Given the description of an element on the screen output the (x, y) to click on. 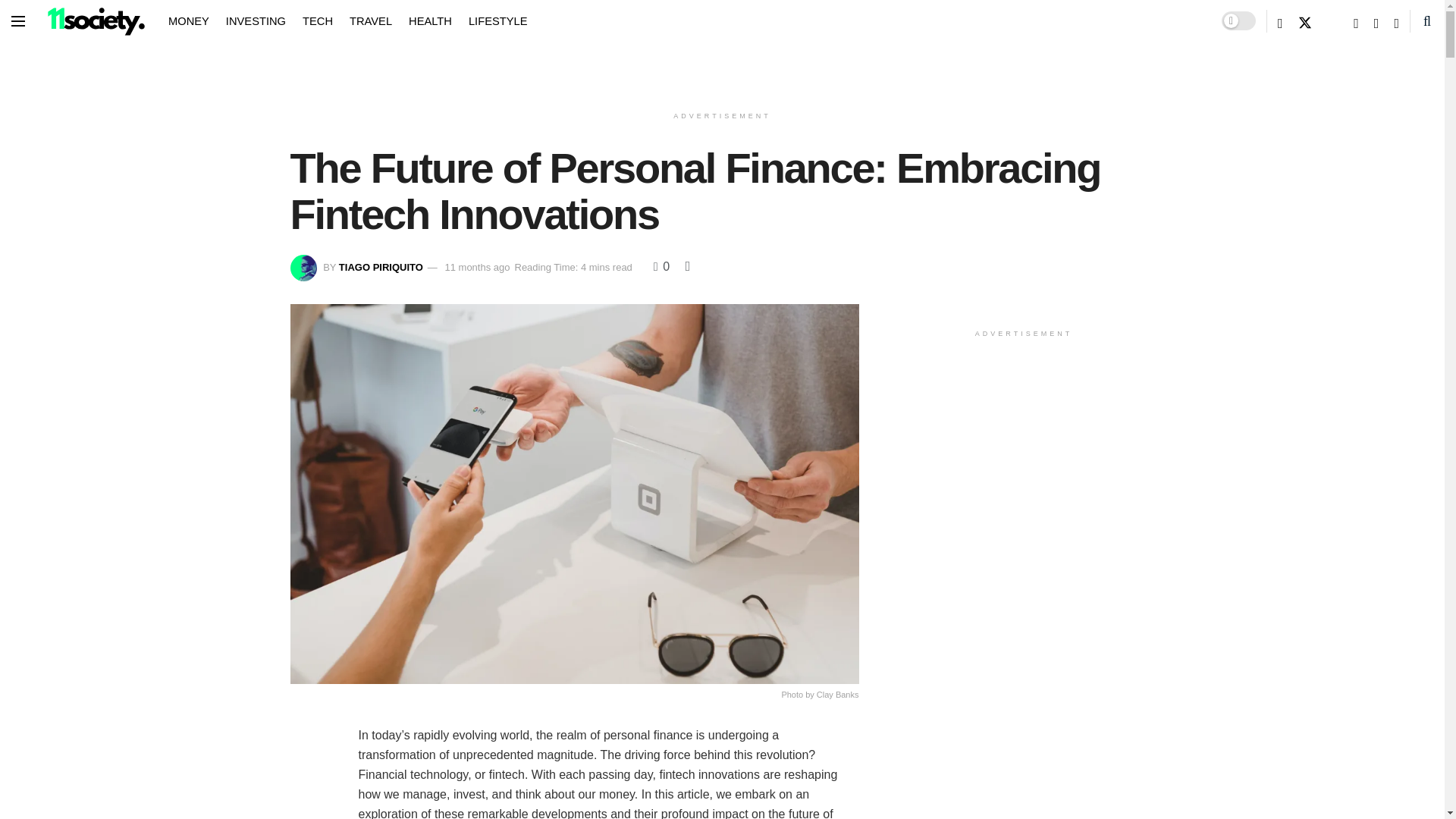
MONEY (188, 20)
11 months ago (476, 266)
HEALTH (430, 20)
TRAVEL (370, 20)
LIFESTYLE (497, 20)
TECH (317, 20)
TIAGO PIRIQUITO (381, 266)
0 (661, 266)
INVESTING (255, 20)
